Given the description of an element on the screen output the (x, y) to click on. 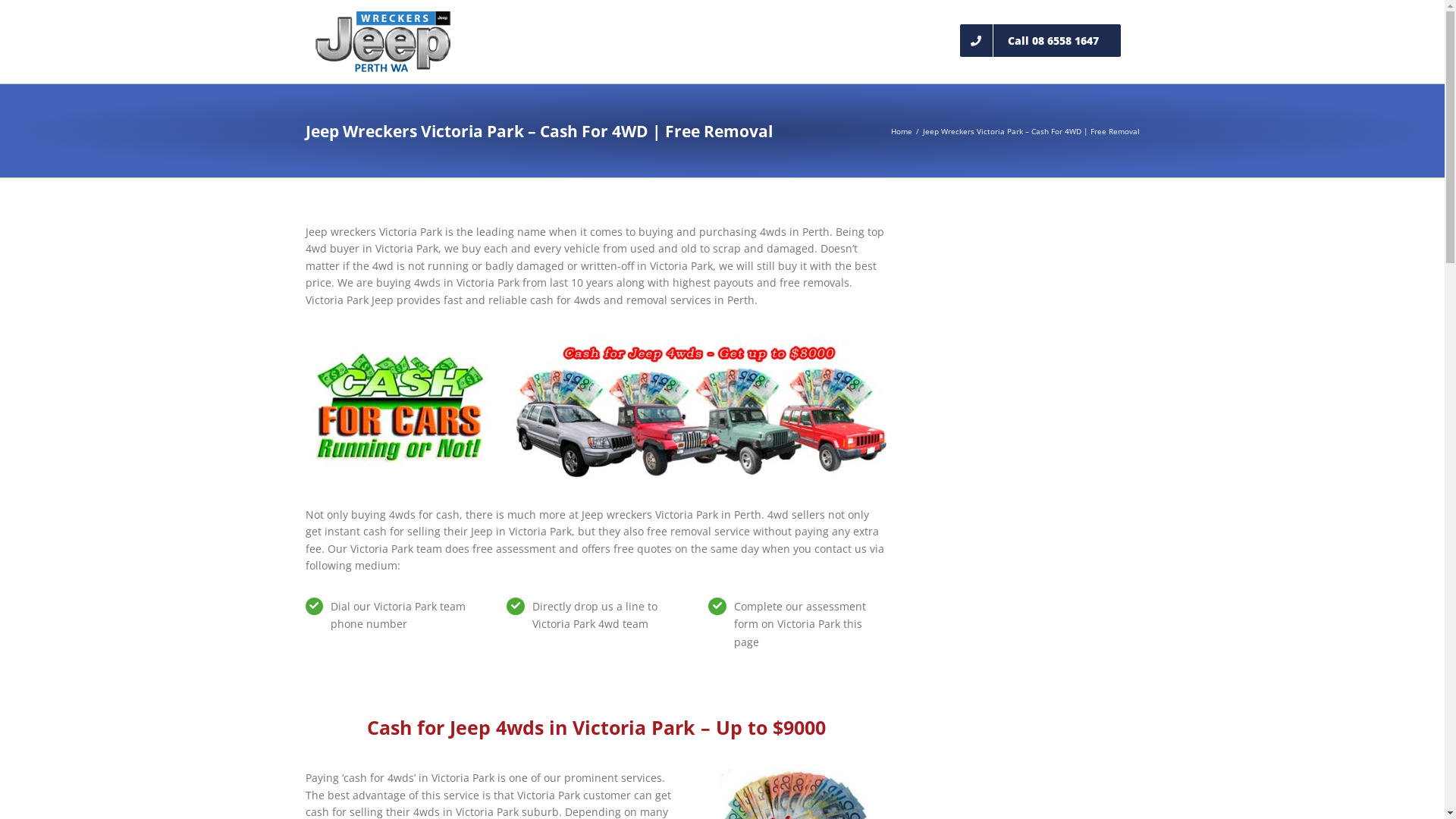
Call 08 6558 1647 Element type: text (1040, 39)
Jeep Wrecker Element type: hover (700, 407)
Home Element type: text (900, 130)
Jeep 4wd Wrecker Element type: hover (397, 407)
